Given the description of an element on the screen output the (x, y) to click on. 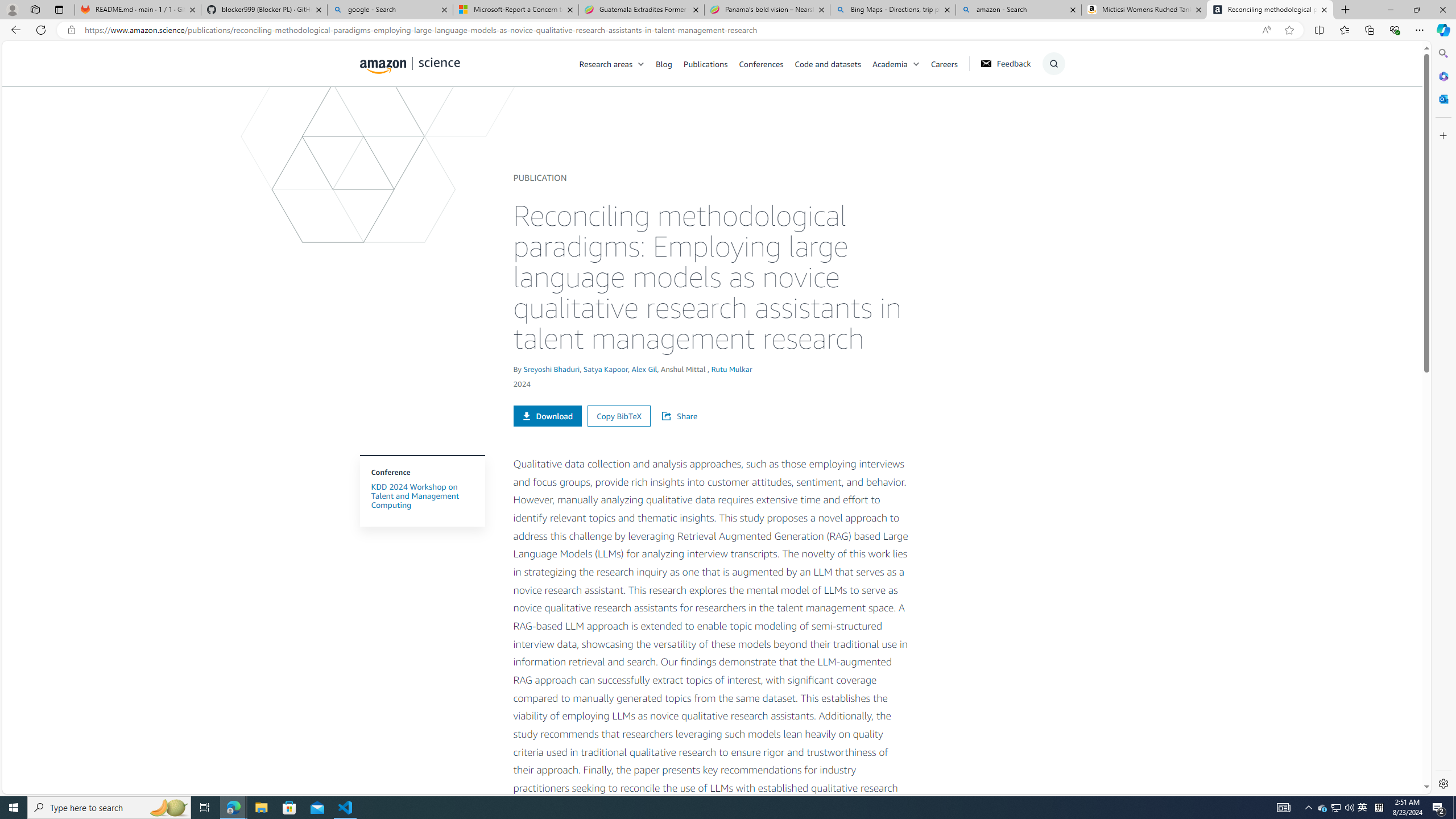
Class: icon-magnify (372, 108)
PUBLICATION (539, 176)
KDD 2024 Workshop on Talent and Management Computing (415, 495)
Blog (663, 63)
Class: chevron (916, 66)
Publications (710, 63)
